Given the description of an element on the screen output the (x, y) to click on. 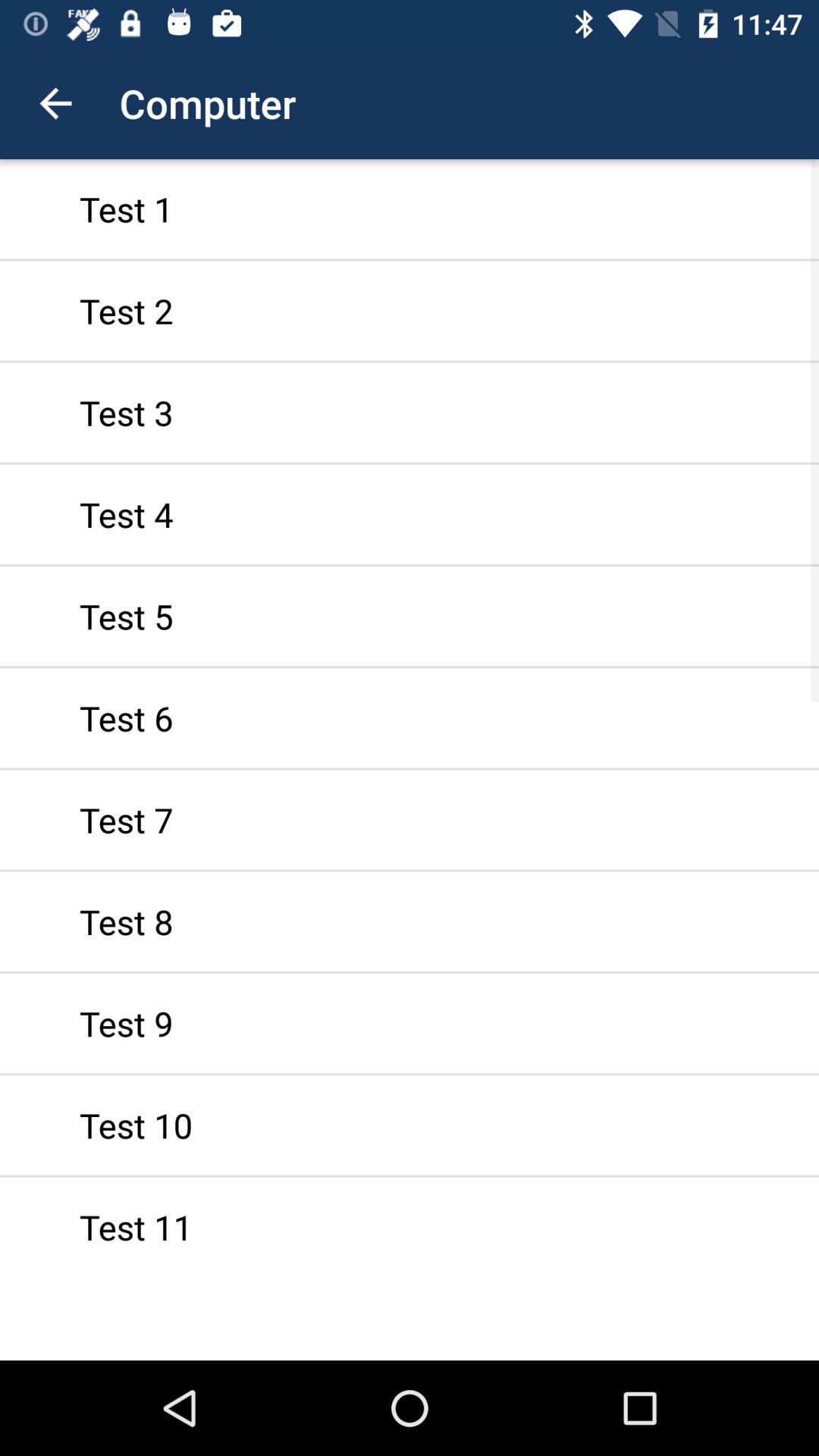
choose icon above test 1 icon (55, 103)
